Given the description of an element on the screen output the (x, y) to click on. 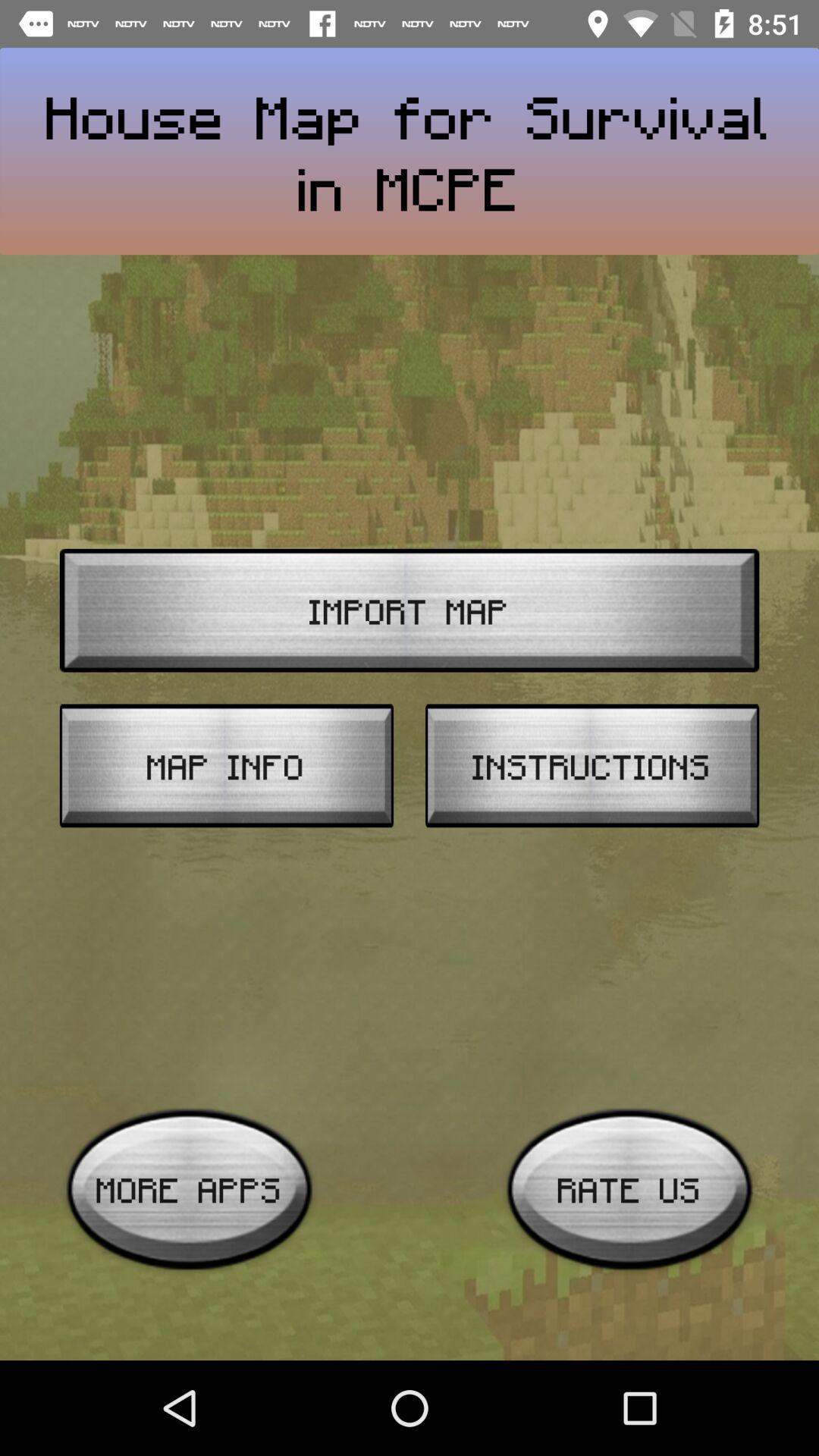
jump to rate us item (629, 1188)
